Given the description of an element on the screen output the (x, y) to click on. 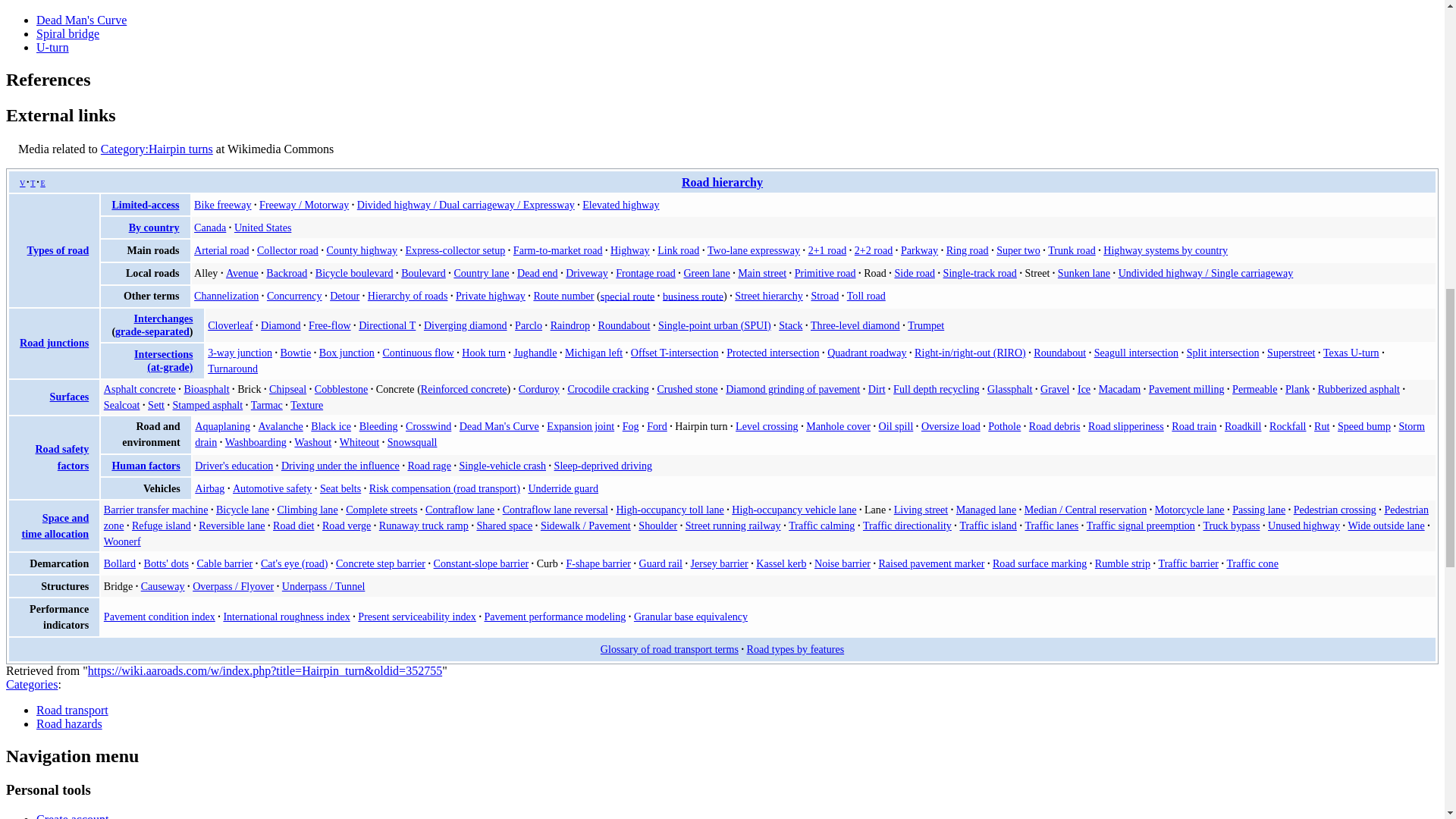
commons:Category:Category:Hairpin turns (156, 148)
Types of road (57, 250)
Category:Hairpin turns (156, 148)
Bike freeway (221, 204)
Collector road (287, 250)
United States (262, 227)
U-turn (52, 47)
By country (154, 227)
Canada (209, 227)
Limited-access (145, 204)
Dead Man's Curve (81, 19)
Express-collector setup (454, 250)
County highway (361, 250)
Arterial road (220, 250)
Dead Man's Curve (81, 19)
